Given the description of an element on the screen output the (x, y) to click on. 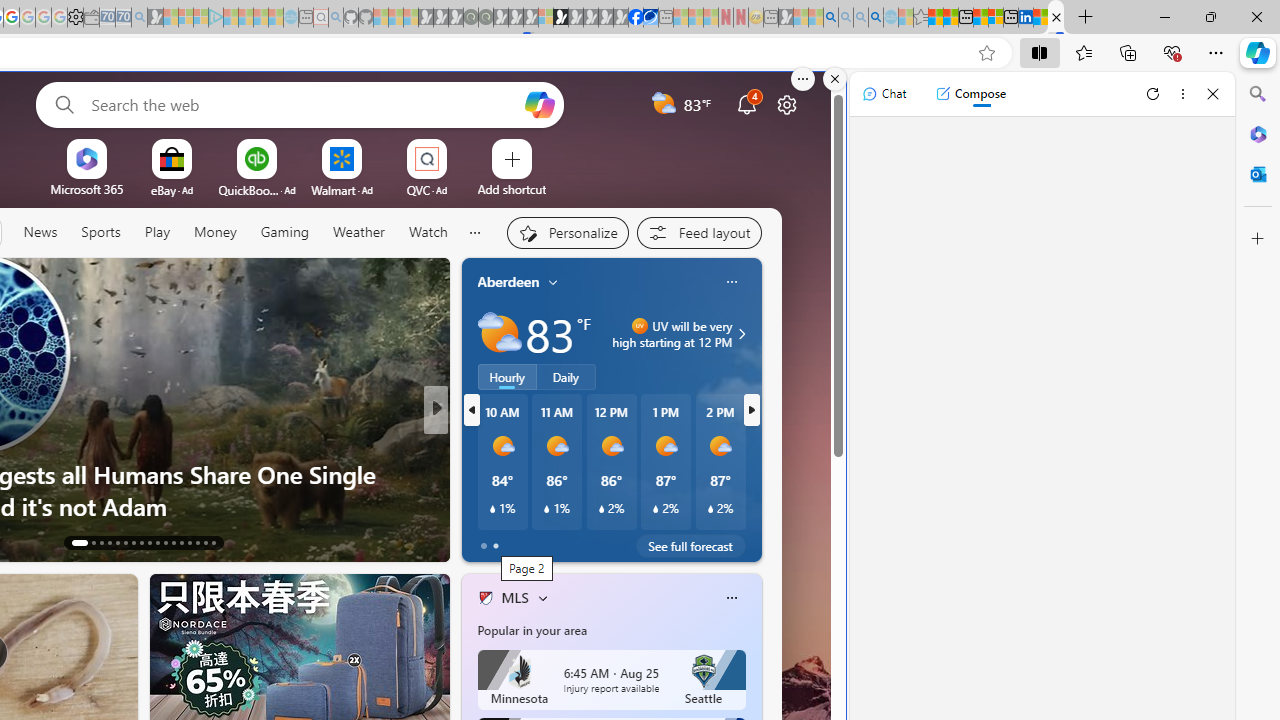
AutomationID: tab-20 (140, 542)
Far & Wide (477, 473)
Partly sunny (499, 333)
AZ Animals (US) (477, 442)
Compose (970, 93)
Lifewire (477, 473)
Play (156, 232)
View comments 14 Comment (568, 541)
UV will be very high starting at 12 PM (739, 333)
Secret History (477, 473)
View comments 14 Comment (577, 541)
